Given the description of an element on the screen output the (x, y) to click on. 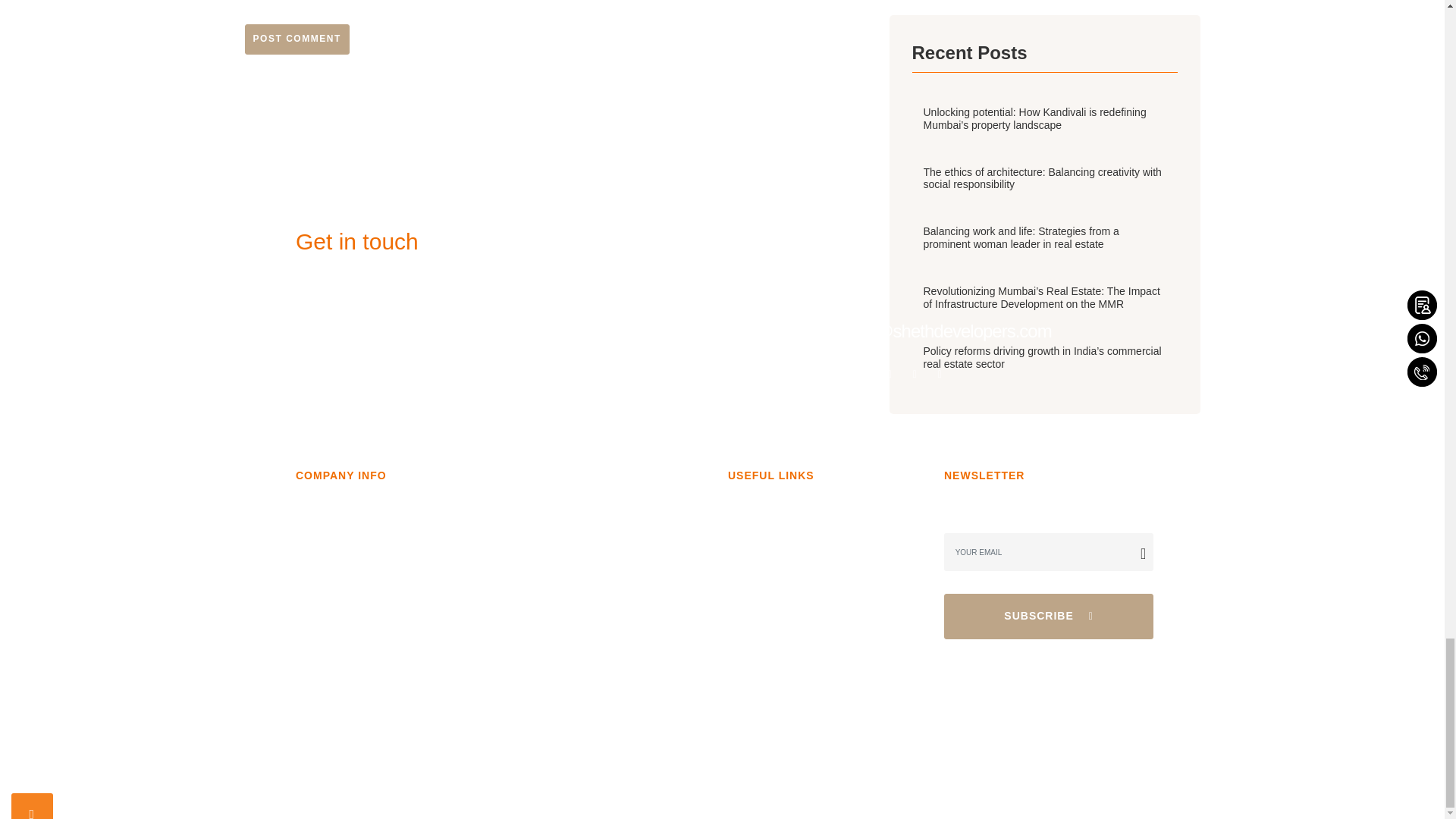
Post Comment (296, 39)
